Given the description of an element on the screen output the (x, y) to click on. 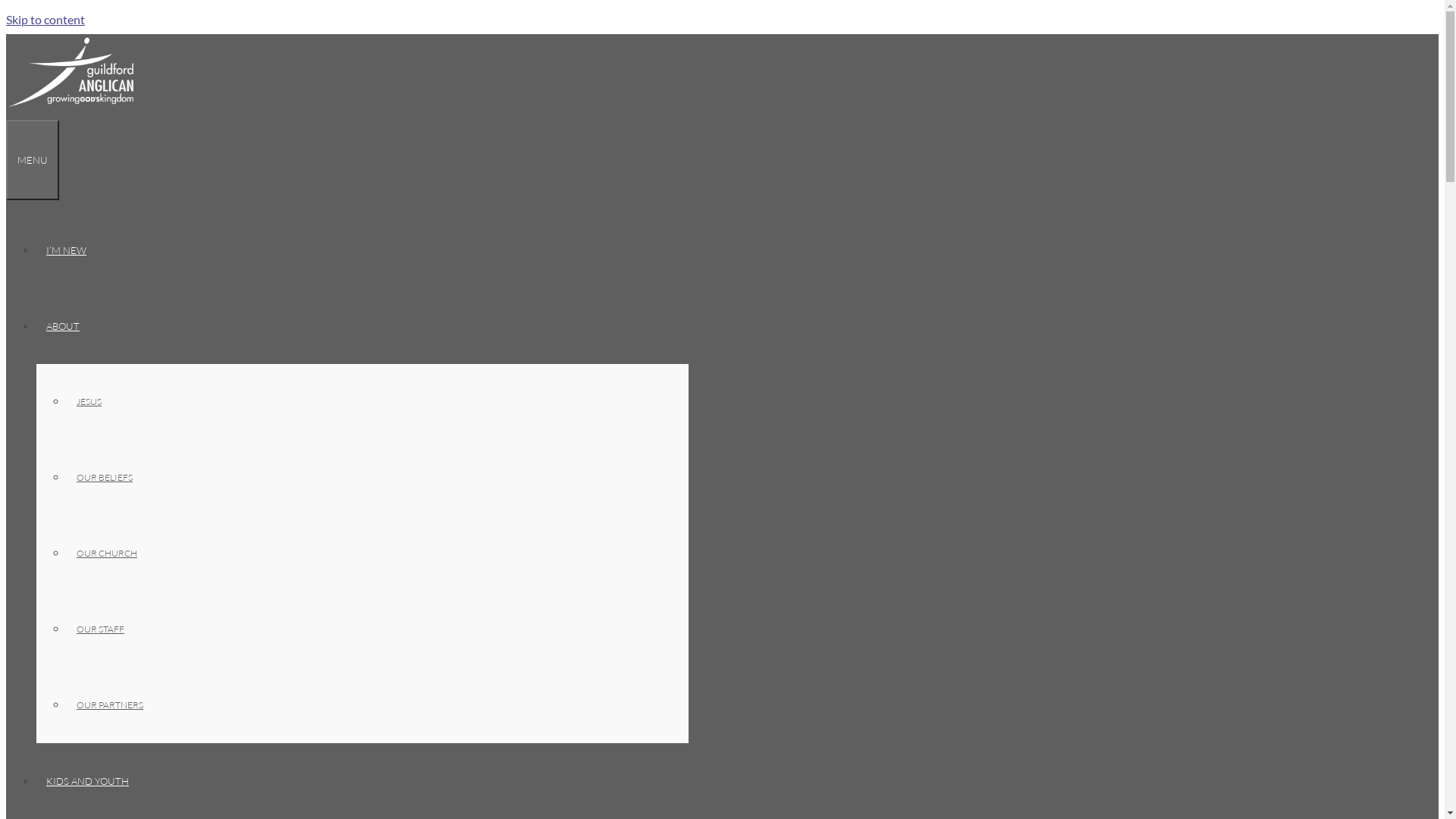
OUR BELIEFS Element type: text (104, 477)
Skip to content Element type: text (45, 19)
ABOUT Element type: text (67, 326)
JESUS Element type: text (88, 401)
OUR PARTNERS Element type: text (109, 704)
Guildford Anglican Church Element type: hover (70, 71)
KIDS AND YOUTH Element type: text (92, 781)
OUR CHURCH Element type: text (106, 552)
MENU Element type: text (32, 159)
OUR STAFF Element type: text (100, 628)
Guildford Anglican Church Element type: hover (70, 106)
